Given the description of an element on the screen output the (x, y) to click on. 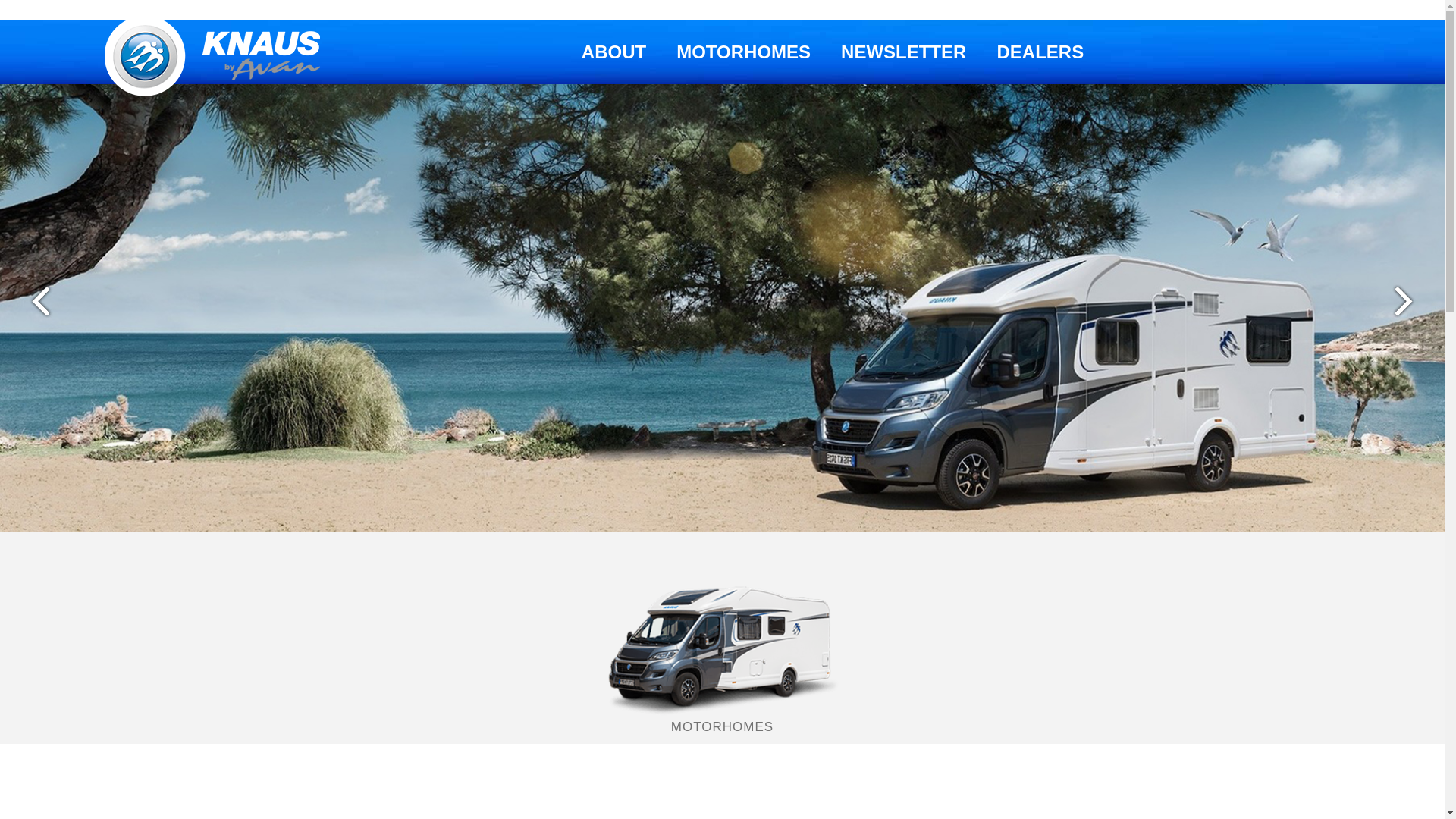
NEWSLETTER Element type: text (903, 51)
DEALERS Element type: text (1039, 51)
Knaus Australia Element type: hover (214, 55)
MOTORHOMES Element type: text (743, 51)
ABOUT Element type: text (613, 51)
MOTORHOMES Element type: text (722, 720)
MOTORHOMES Element type: hover (722, 635)
